Given the description of an element on the screen output the (x, y) to click on. 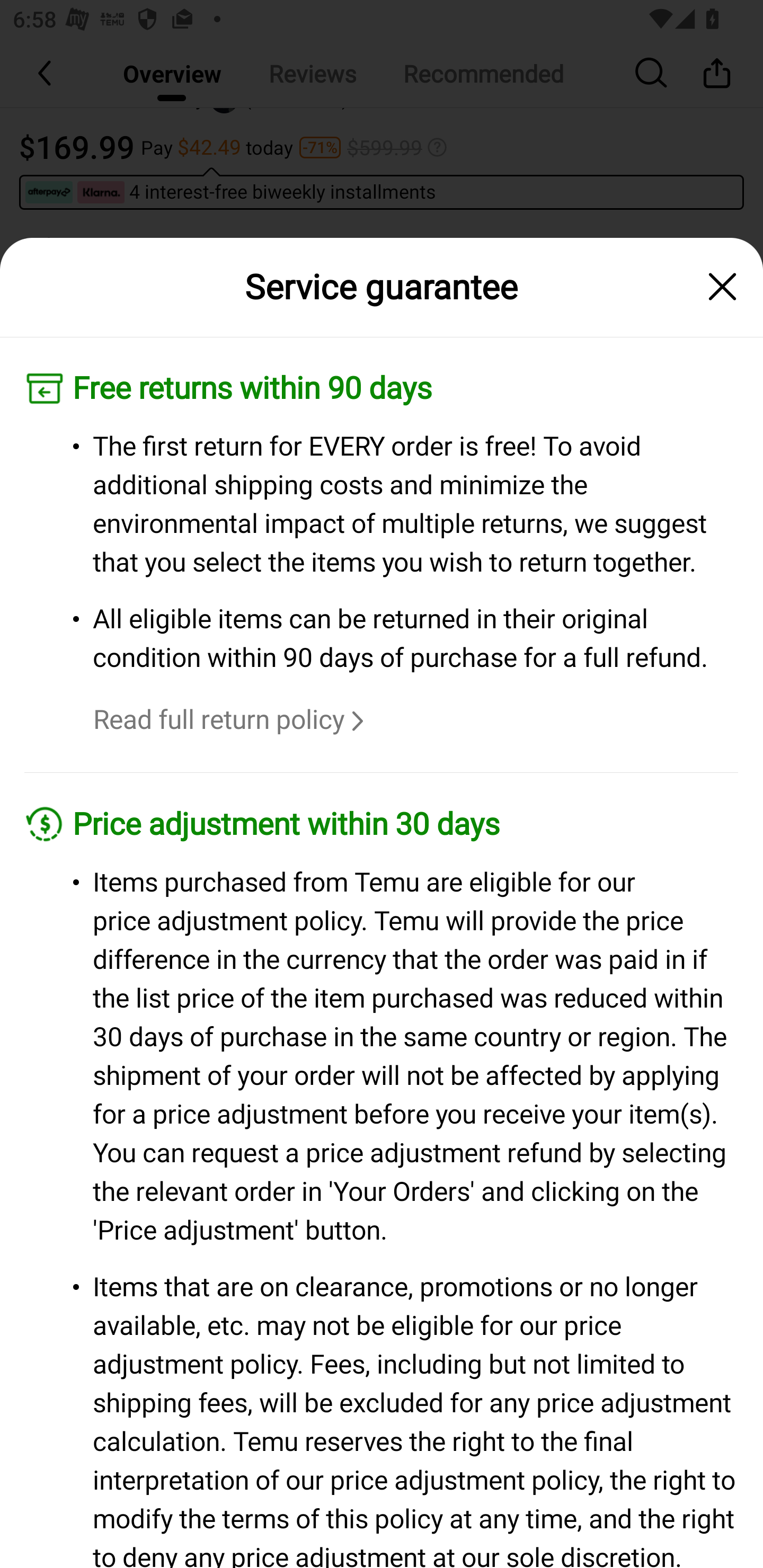
 (722, 286)
Read full return policy  (231, 720)
